Given the description of an element on the screen output the (x, y) to click on. 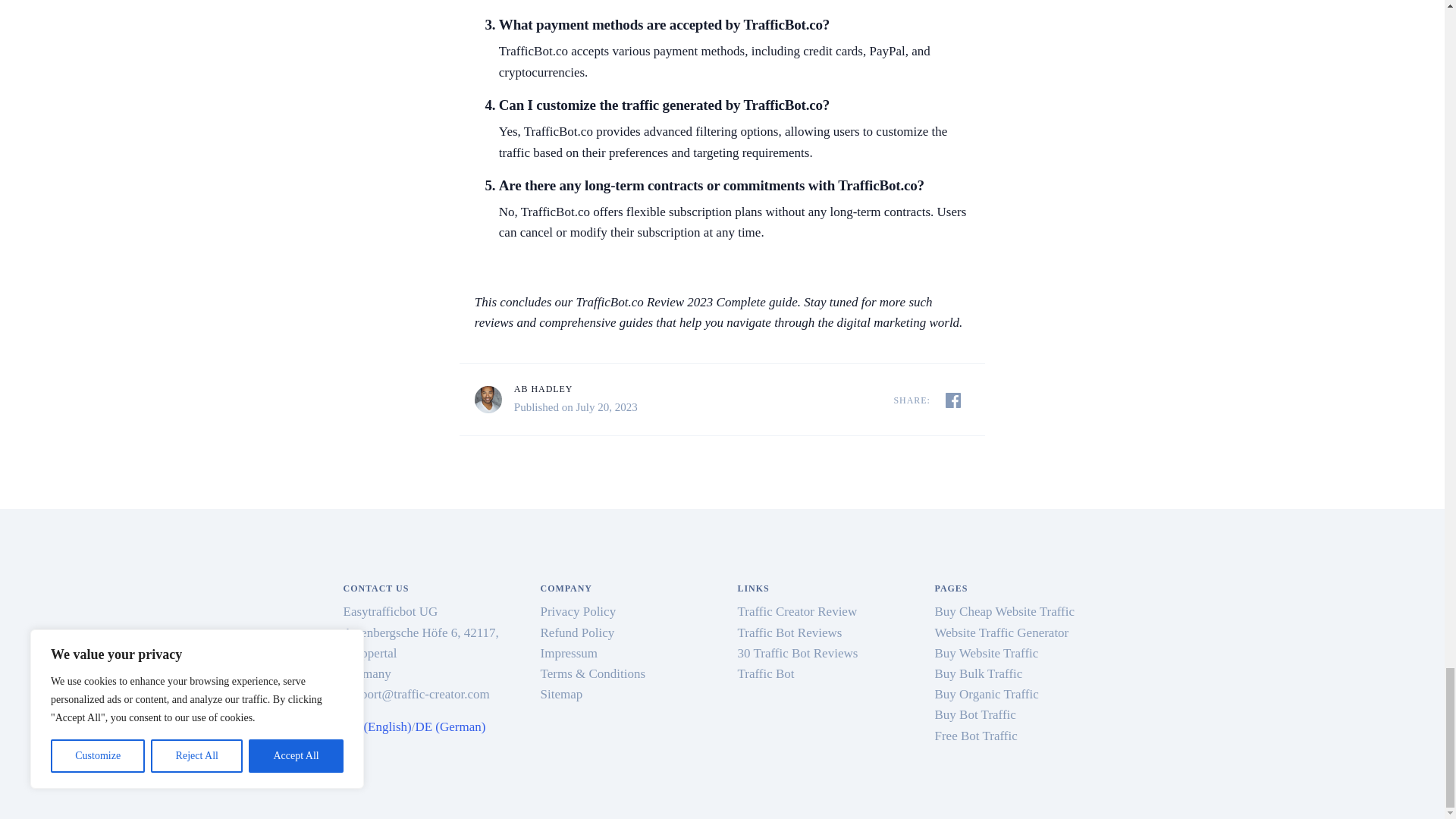
Impressum (568, 653)
Refund Policy (577, 632)
Privacy Policy (577, 611)
Sitemap (561, 694)
Traffic Creator Review (796, 611)
